Given the description of an element on the screen output the (x, y) to click on. 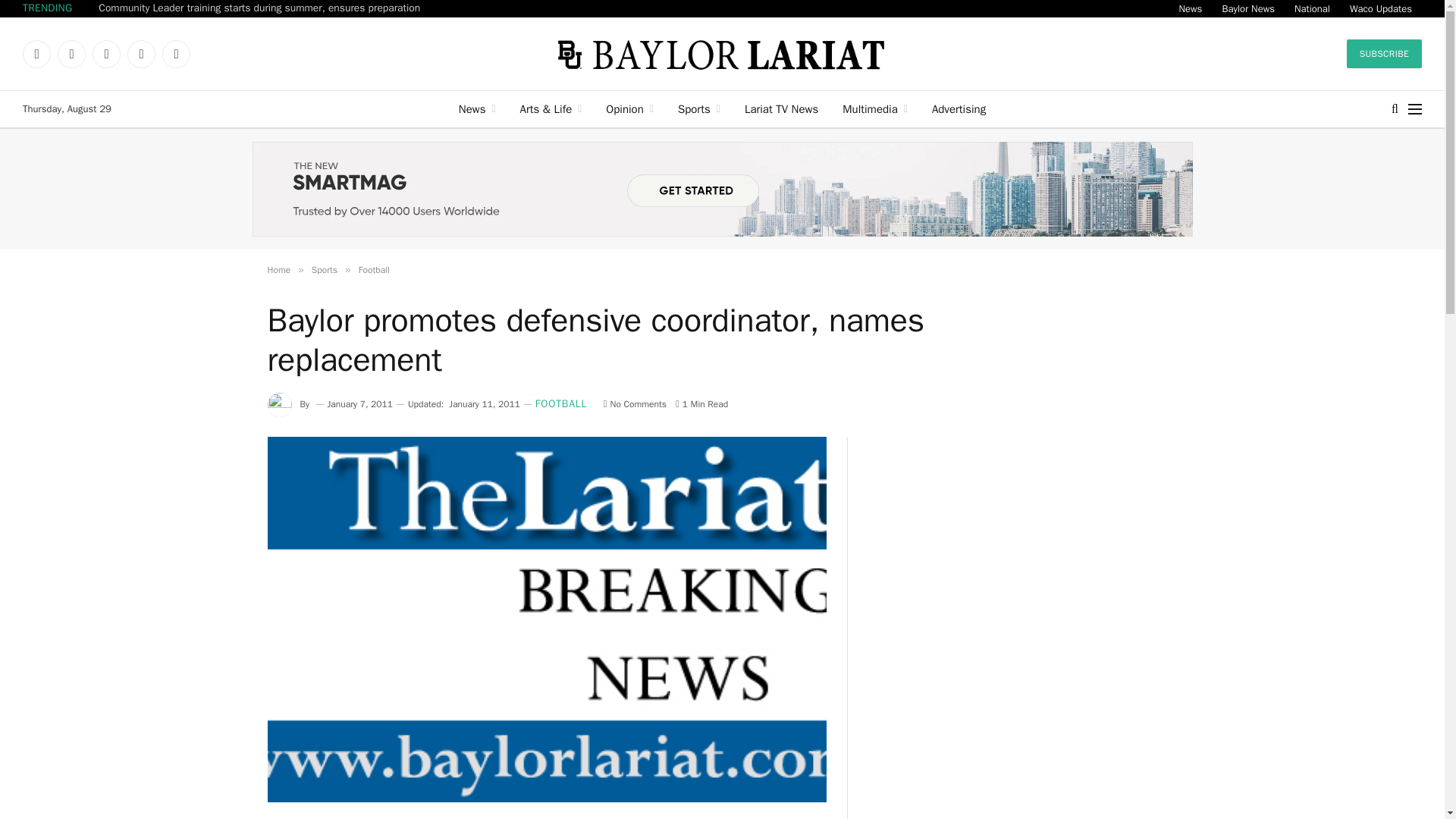
SUBSCRIBE (1384, 53)
Instagram (106, 53)
National (1311, 8)
Baylor News (1247, 8)
Waco Updates (1380, 8)
Facebook (36, 53)
News (1190, 8)
The Baylor Lariat (722, 53)
